Given the description of an element on the screen output the (x, y) to click on. 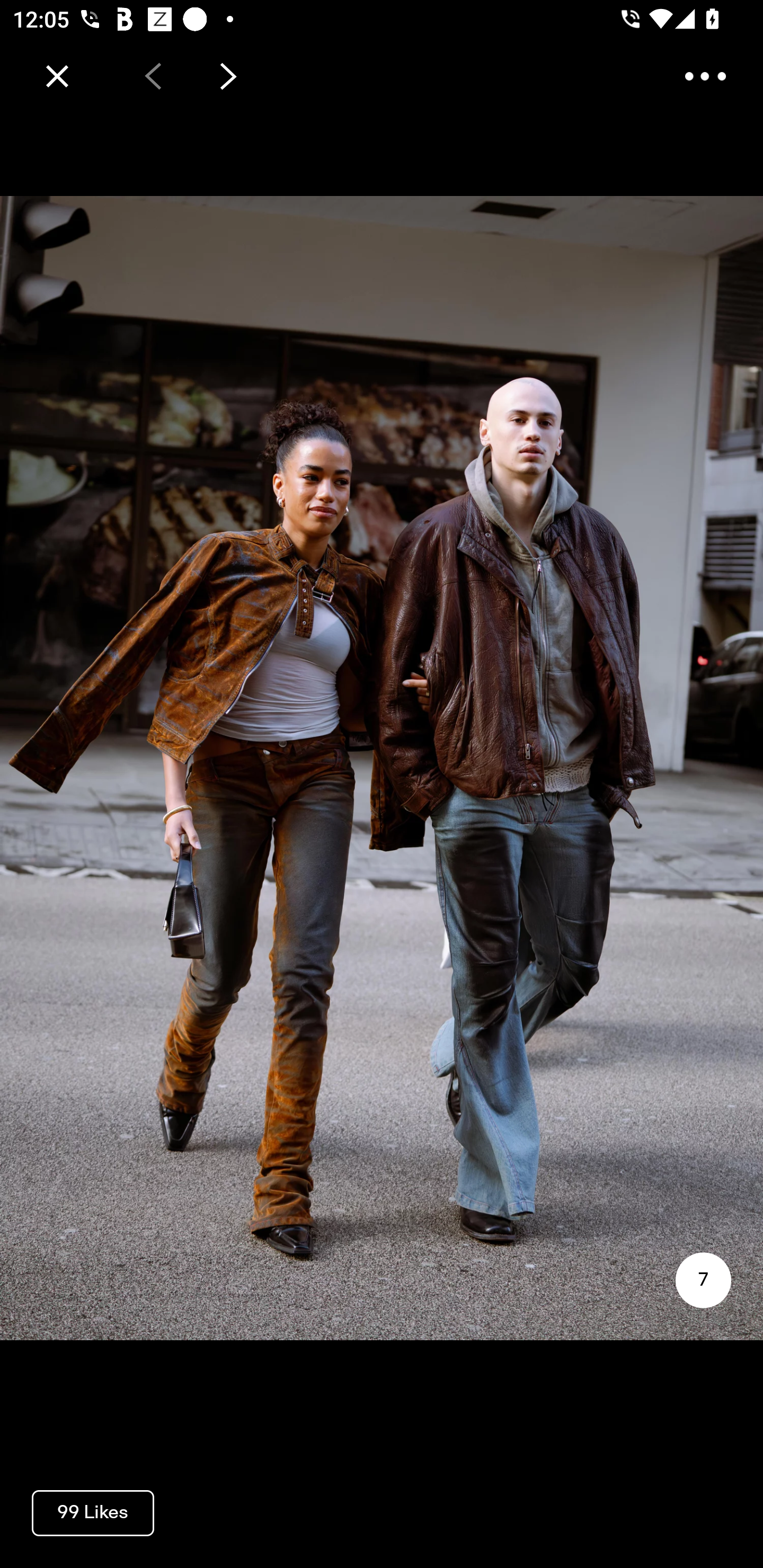
7 (702, 1279)
99 Likes (93, 1512)
